Given the description of an element on the screen output the (x, y) to click on. 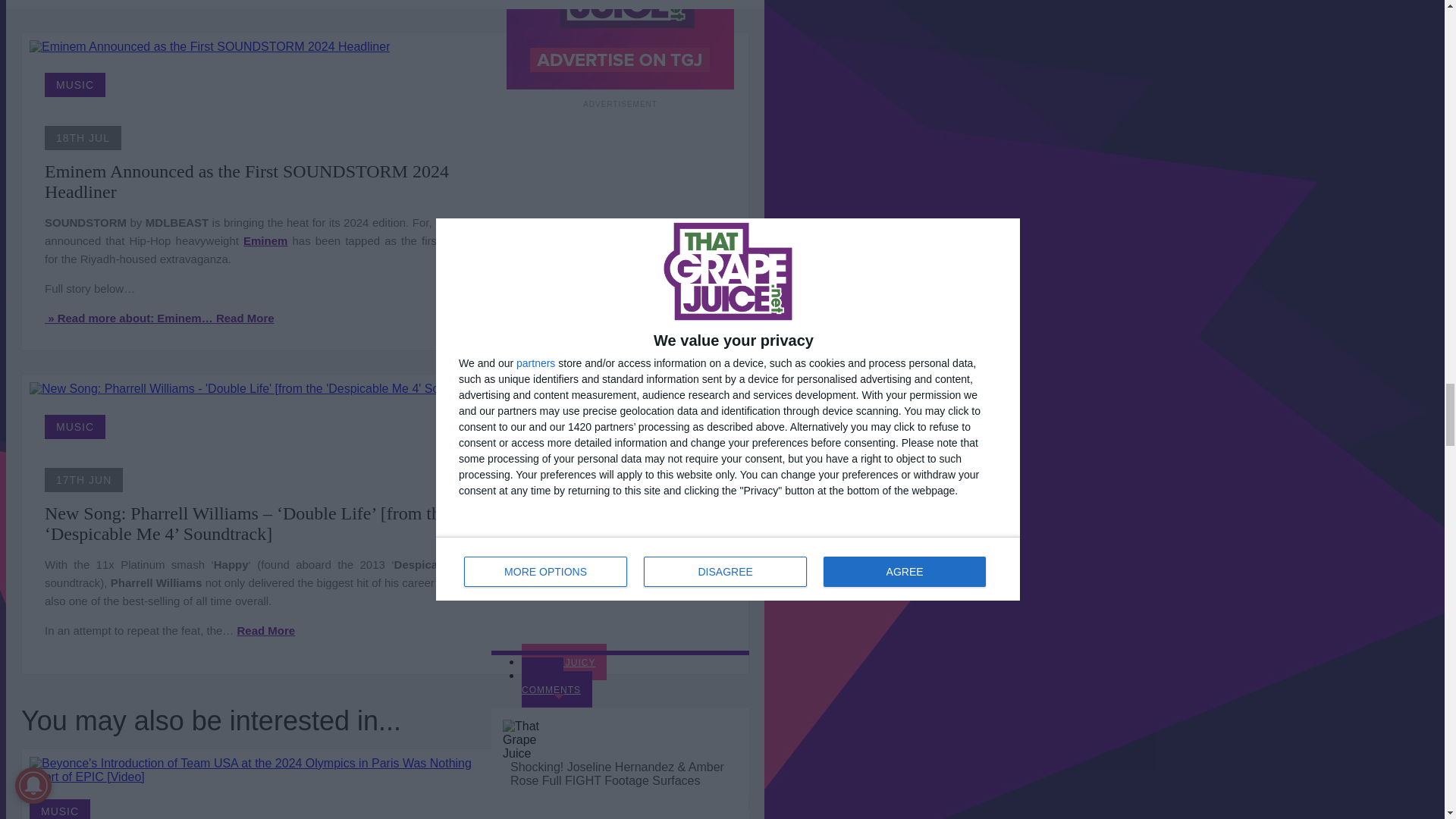
That Grape Juice (529, 739)
